Given the description of an element on the screen output the (x, y) to click on. 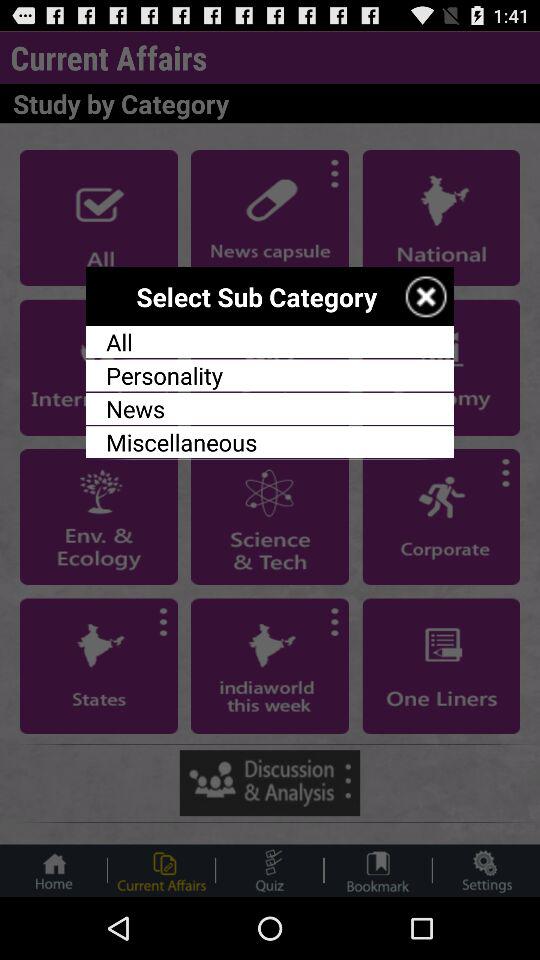
close sub category (425, 296)
